Given the description of an element on the screen output the (x, y) to click on. 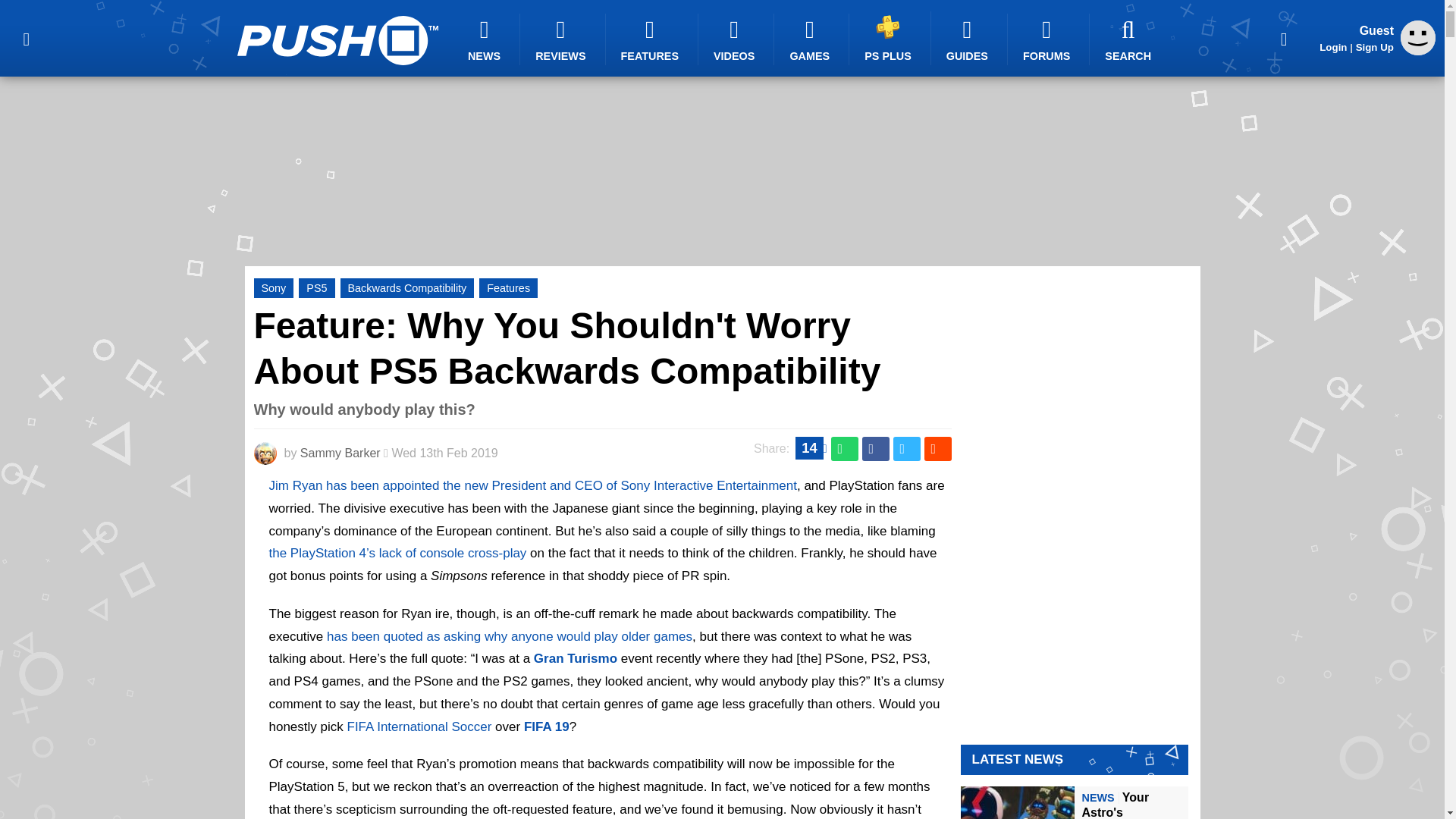
Guest (1417, 51)
Guest (1417, 37)
NEWS (485, 39)
VIDEOS (736, 39)
GUIDES (969, 39)
FORUMS (1048, 39)
Sign Up (1374, 47)
Push Square (336, 40)
GAMES (811, 39)
Push Square (336, 40)
